Given the description of an element on the screen output the (x, y) to click on. 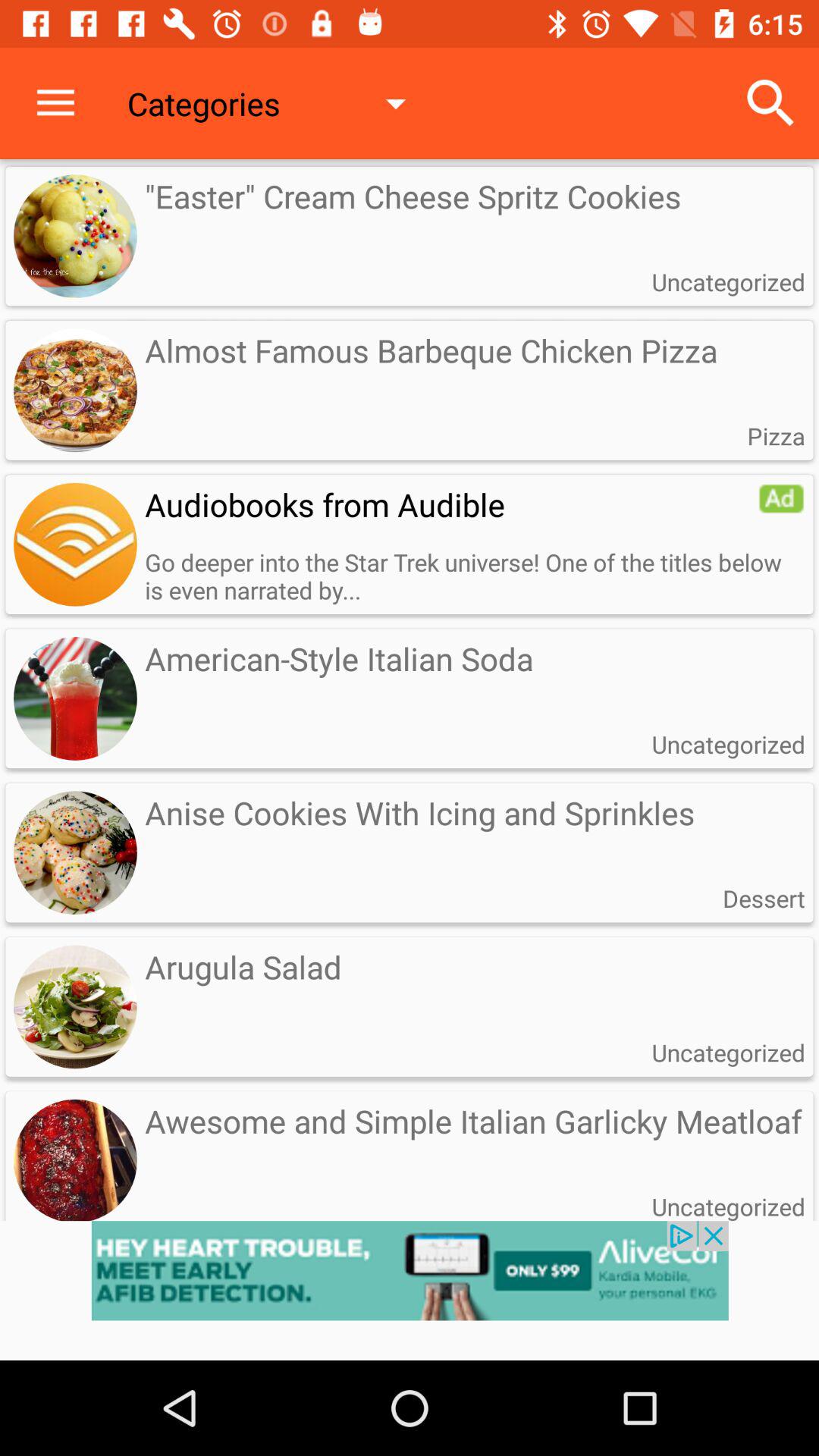
advertisement (409, 1290)
